Given the description of an element on the screen output the (x, y) to click on. 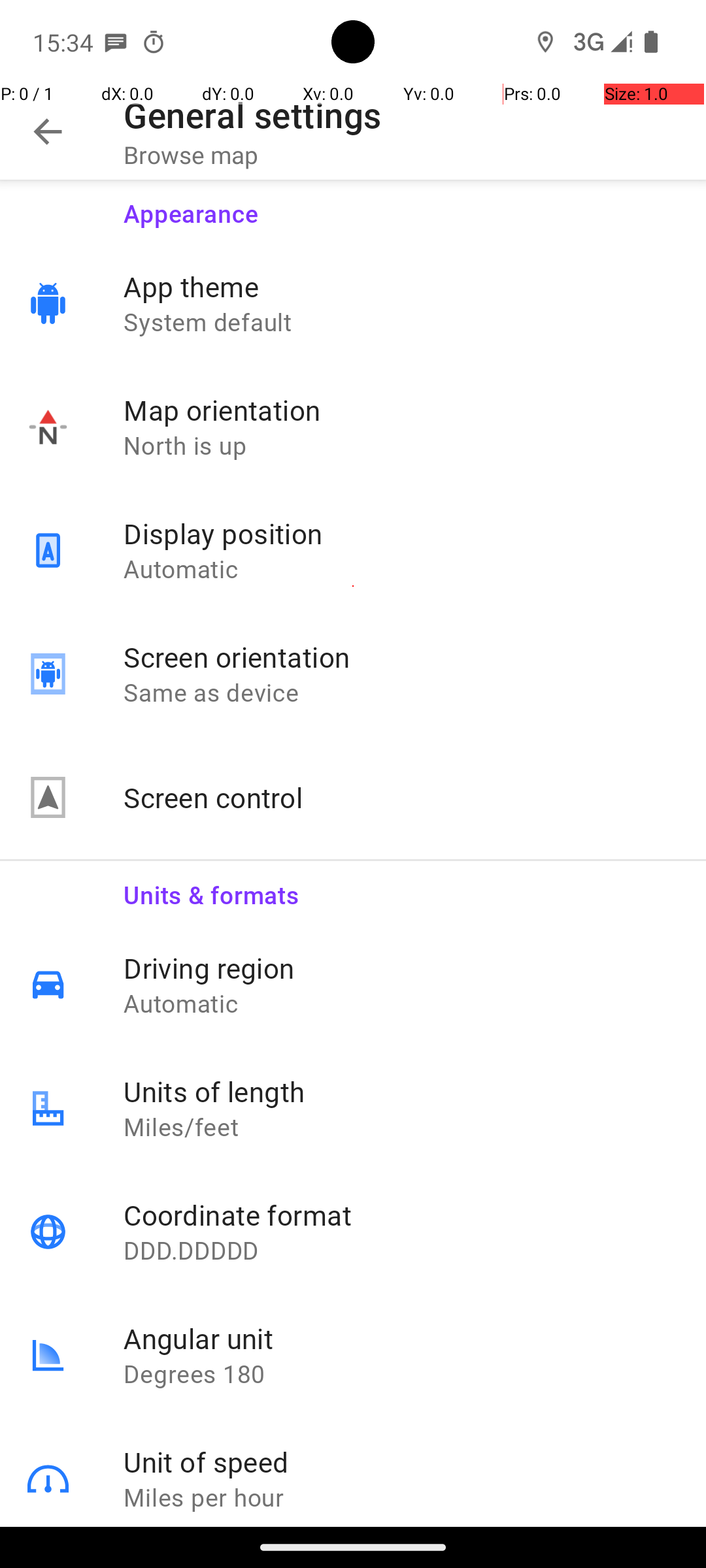
General settings Element type: android.widget.TextView (252, 114)
Appearance Element type: android.widget.TextView (400, 204)
App theme Element type: android.widget.TextView (400, 286)
Map orientation Element type: android.widget.TextView (400, 409)
Display position Element type: android.widget.TextView (400, 533)
Screen orientation Element type: android.widget.TextView (400, 656)
Same as device Element type: android.widget.TextView (400, 691)
Screen control Element type: android.widget.TextView (400, 797)
Units & formats Element type: android.widget.TextView (400, 886)
Driving region Element type: android.widget.TextView (400, 967)
Units of length Element type: android.widget.TextView (400, 1091)
Miles/feet Element type: android.widget.TextView (400, 1126)
Coordinate format Element type: android.widget.TextView (400, 1214)
DDD.DDDDD Element type: android.widget.TextView (400, 1249)
Angular unit Element type: android.widget.TextView (400, 1337)
Degrees 180 Element type: android.widget.TextView (400, 1373)
Unit of speed Element type: android.widget.TextView (400, 1461)
Miles per hour Element type: android.widget.TextView (400, 1496)
SMS Messenger notification: +17247648679 Element type: android.widget.ImageView (115, 41)
